Given the description of an element on the screen output the (x, y) to click on. 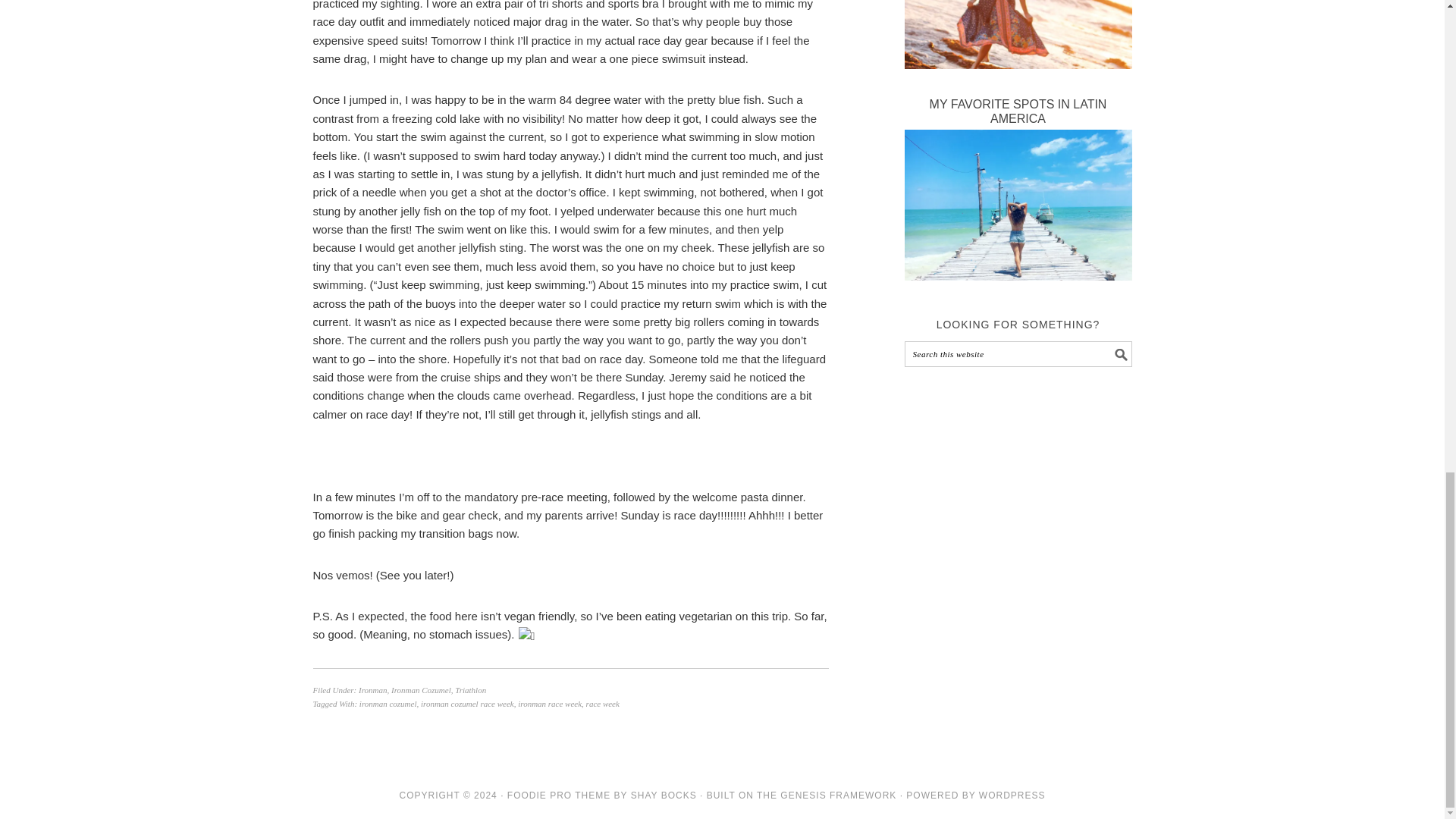
race week (603, 703)
Ironman (372, 689)
Ironman Cozumel (421, 689)
ironman cozumel (387, 703)
Triathlon (470, 689)
My Favorite Spots In Latin America (1017, 276)
ironman race week (549, 703)
ironman cozumel race week (466, 703)
Ready to Wander! (1017, 64)
